Given the description of an element on the screen output the (x, y) to click on. 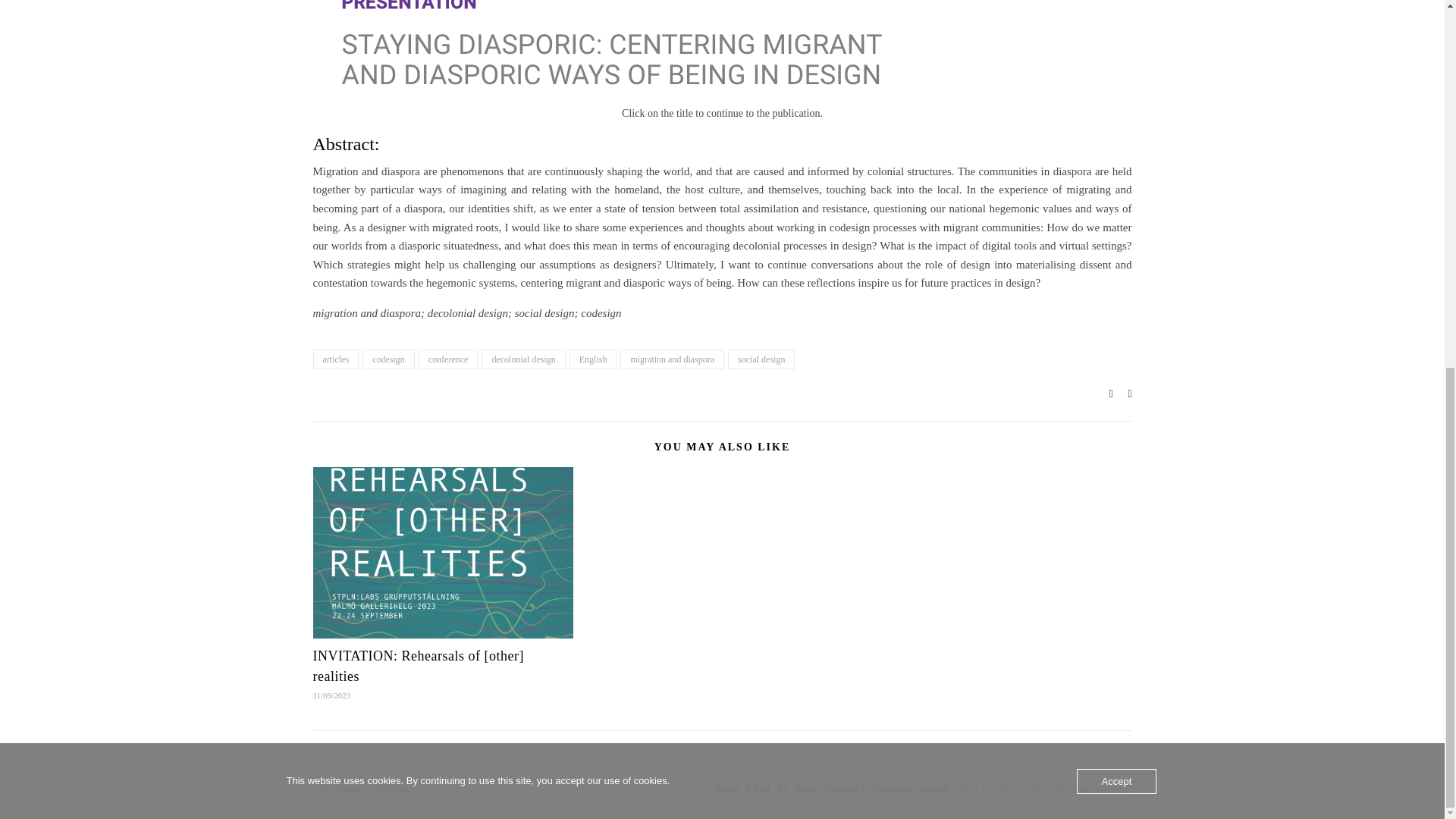
decolonial design (522, 359)
About (934, 789)
codesign (388, 359)
News (806, 789)
Home (727, 789)
Svenska (893, 789)
migration and diaspora (671, 359)
social design (761, 359)
Flod 57 (767, 789)
English (593, 359)
conference (449, 359)
articles (335, 359)
